Given the description of an element on the screen output the (x, y) to click on. 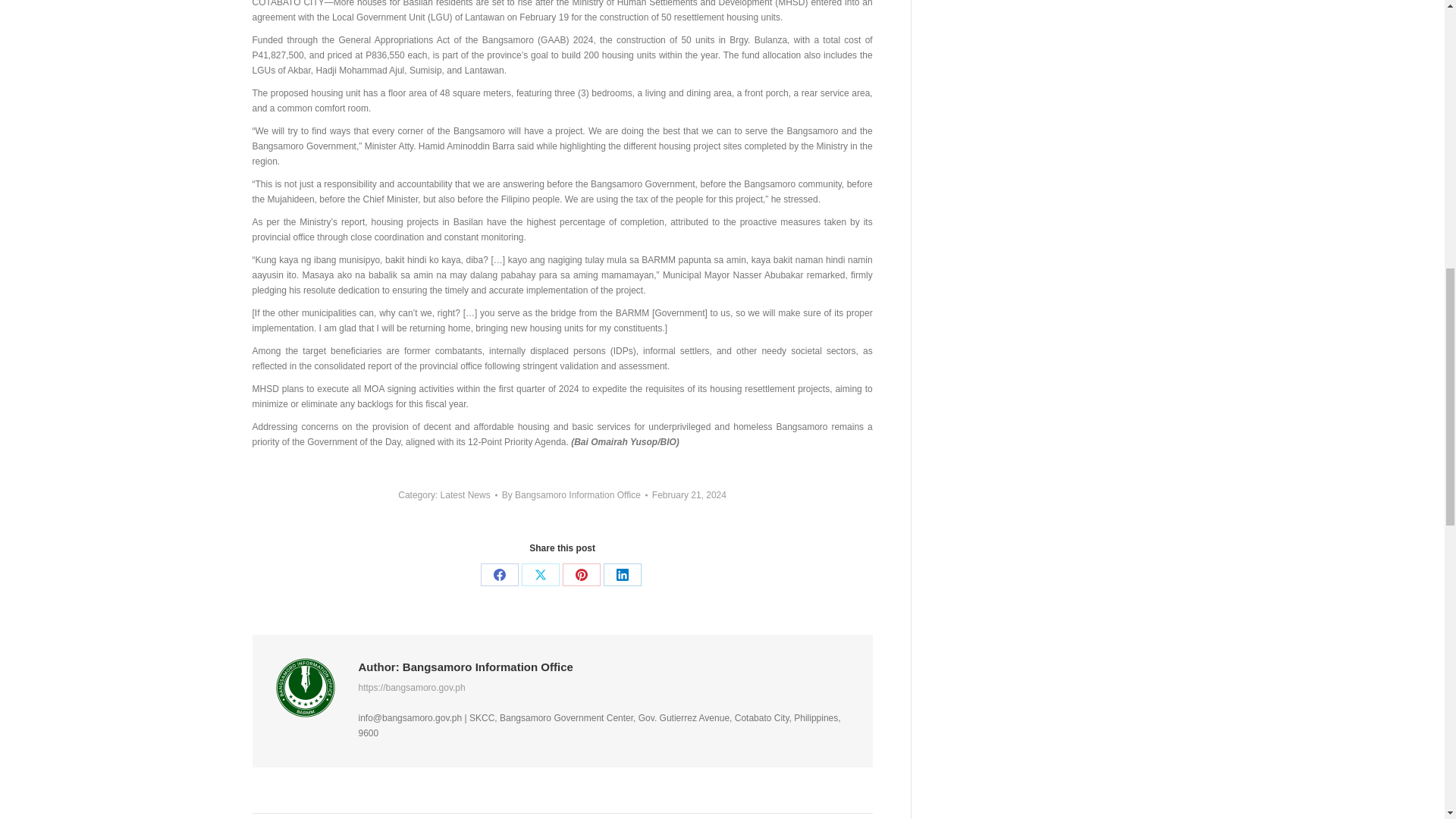
X (540, 574)
8:29 pm (689, 494)
LinkedIn (623, 574)
Facebook (499, 574)
View all posts by Bangsamoro Information Office (574, 494)
Pinterest (580, 574)
